Given the description of an element on the screen output the (x, y) to click on. 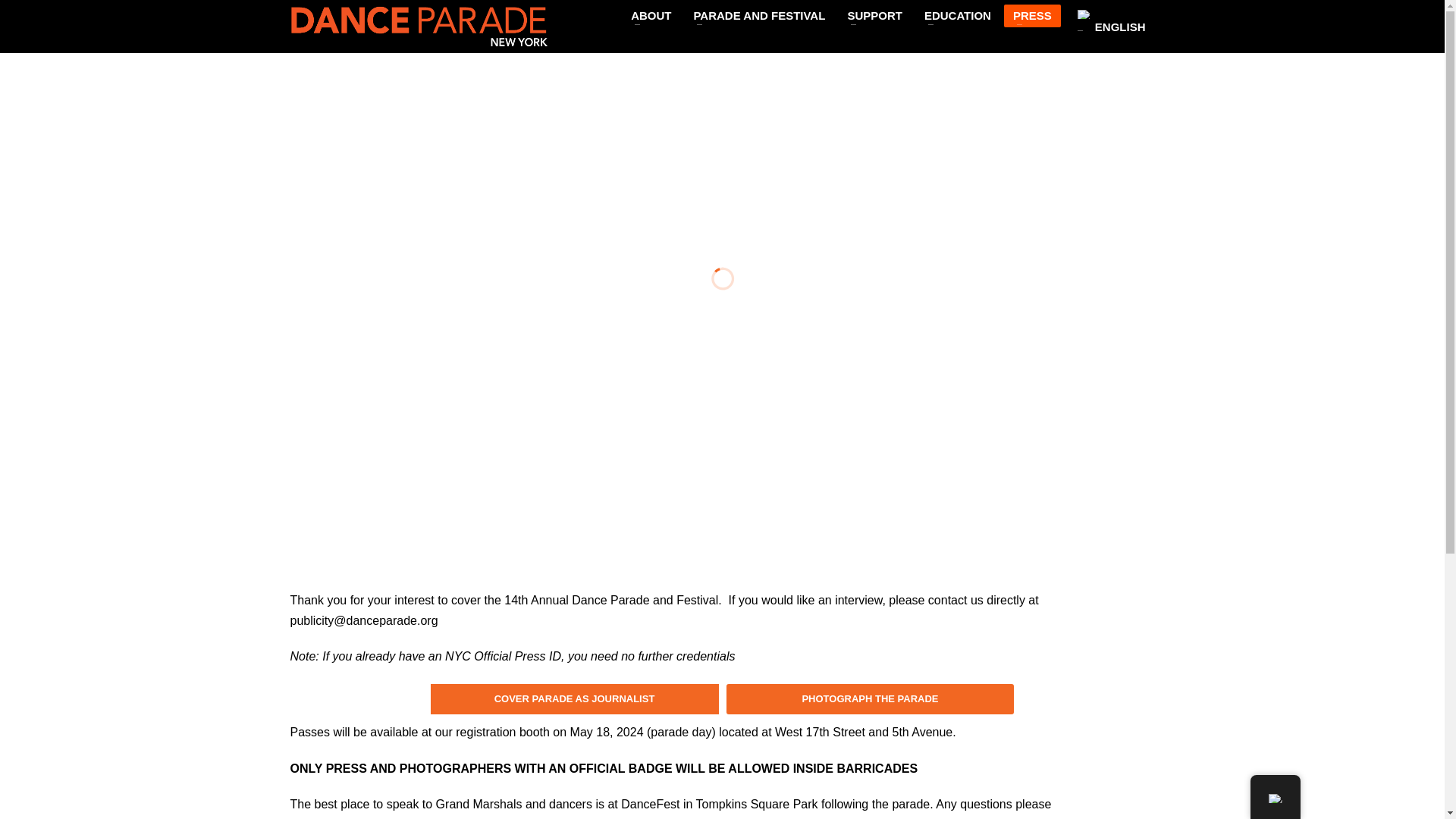
Press Credentials (574, 698)
ABOUT (650, 15)
EDUCATION (957, 15)
English (1083, 13)
Photography Pass (870, 698)
10,000 dancers on Broadway, NYC each May! (418, 26)
COVER PARADE AS JOURNALIST (574, 698)
SUPPORT (874, 15)
PARADE AND FESTIVAL (759, 15)
ENGLISH (1109, 20)
